Given the description of an element on the screen output the (x, y) to click on. 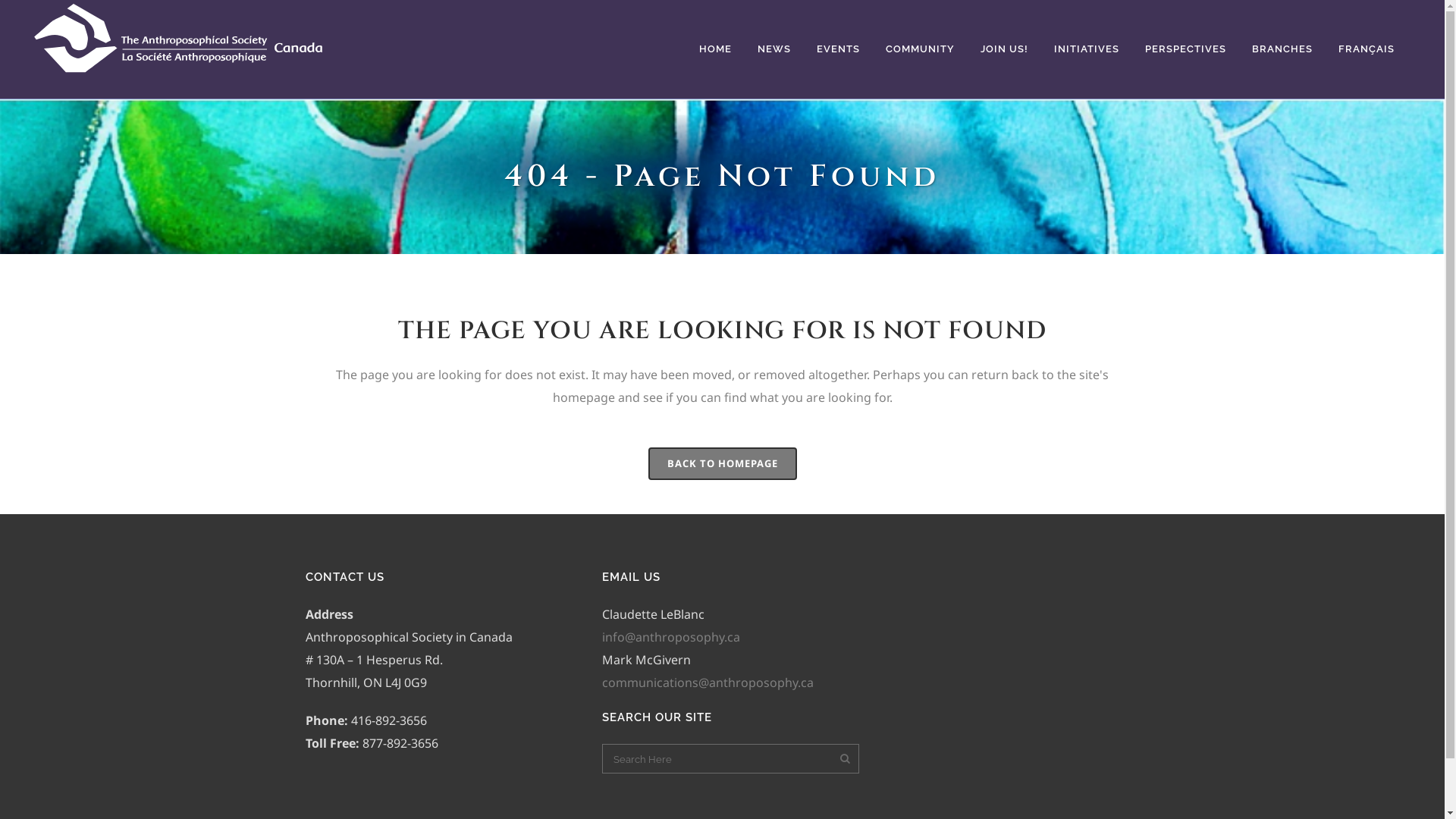
INITIATIVES Element type: text (1086, 49)
BRANCHES Element type: text (1282, 49)
JOIN US! Element type: text (1004, 49)
PERSPECTIVES Element type: text (1185, 49)
communications@anthroposophy.ca Element type: text (707, 682)
COMMUNITY Element type: text (919, 49)
EVENTS Element type: text (837, 49)
info@anthroposophy.ca Element type: text (671, 636)
NEWS Element type: text (773, 49)
BACK TO HOMEPAGE Element type: text (721, 463)
HOME Element type: text (715, 49)
